Given the description of an element on the screen output the (x, y) to click on. 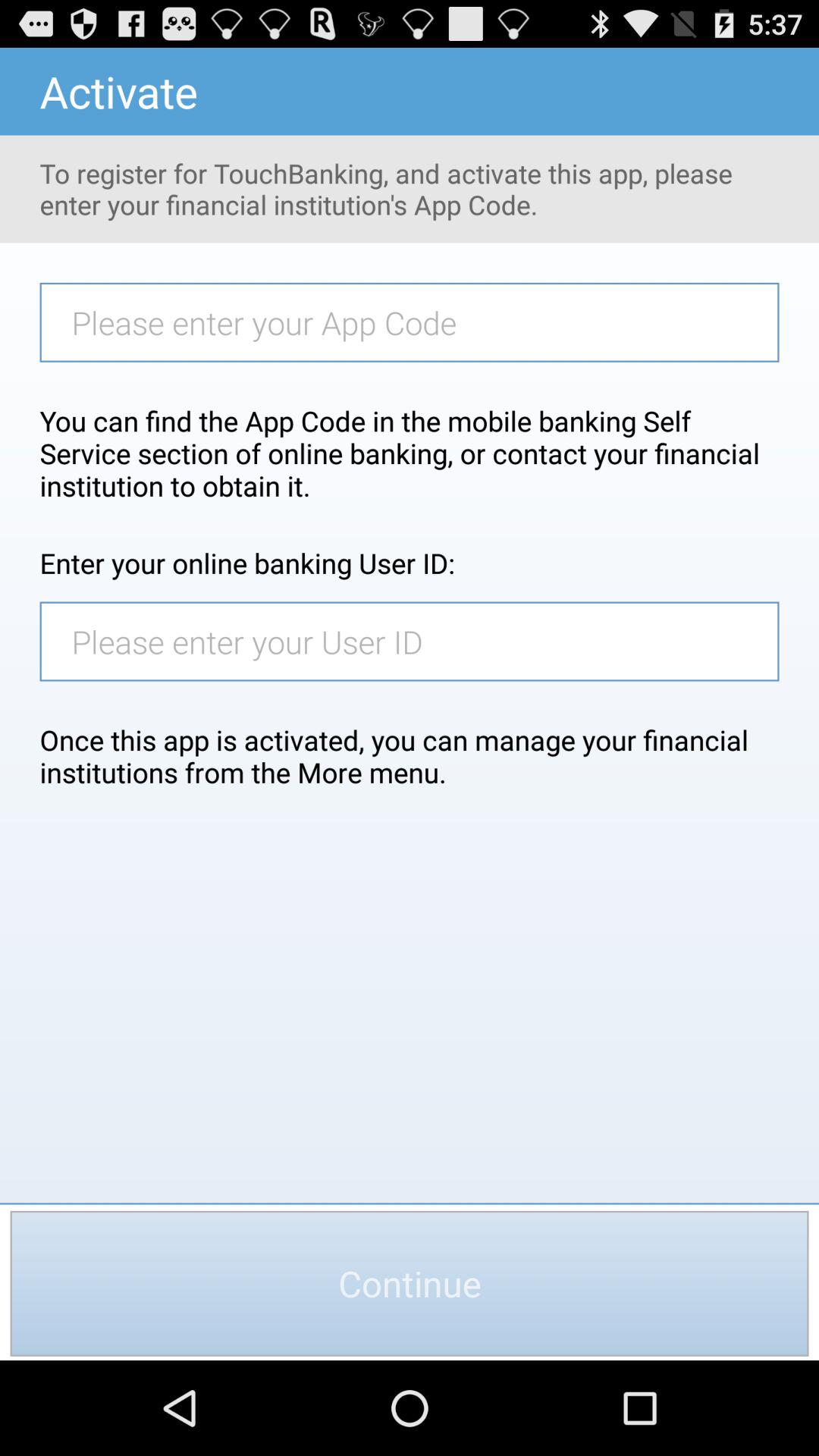
enter used id (417, 641)
